Given the description of an element on the screen output the (x, y) to click on. 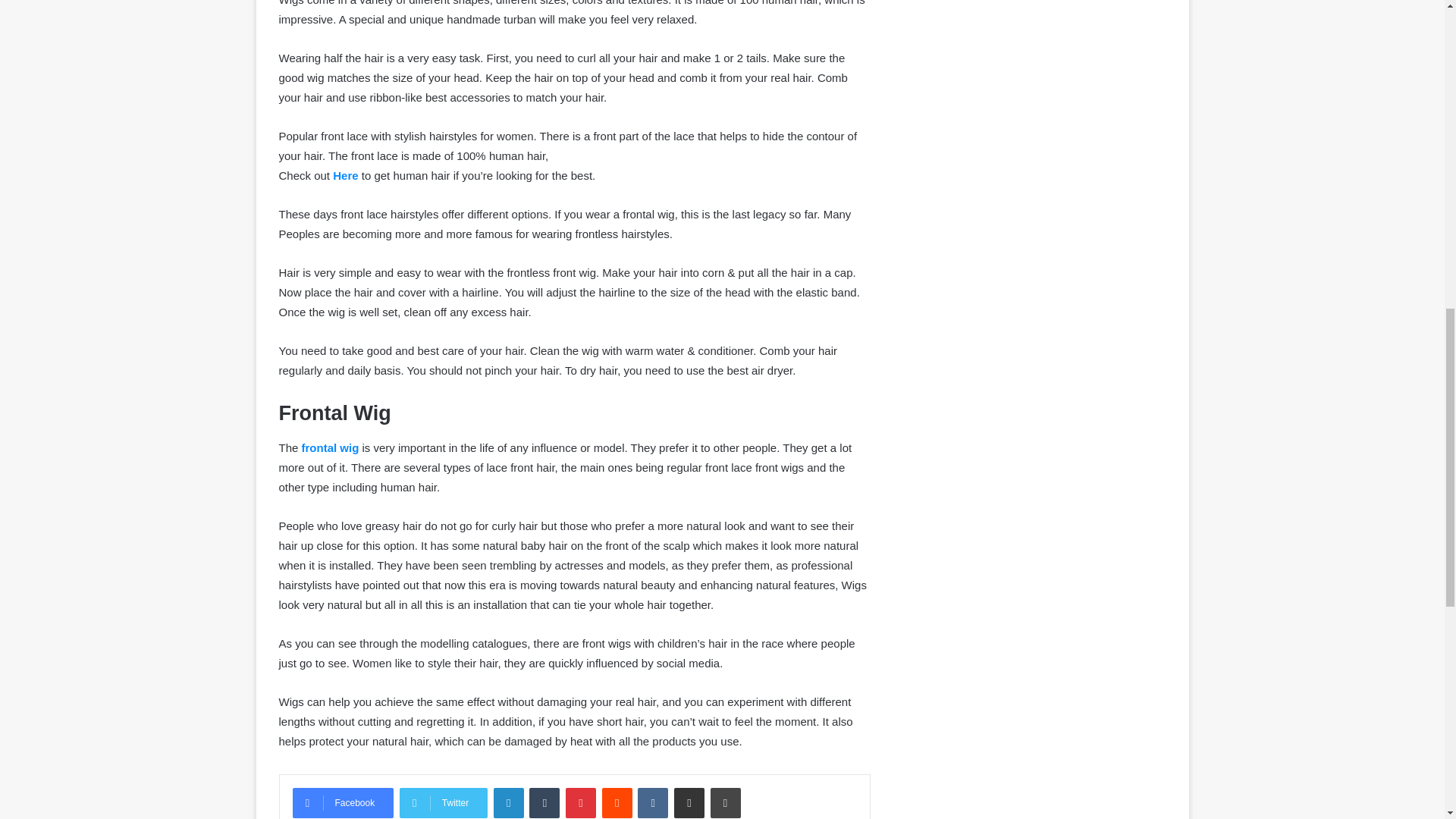
Pinterest (580, 802)
LinkedIn (508, 802)
Print (725, 802)
Twitter (442, 802)
Share via Email (689, 802)
Facebook (343, 802)
VKontakte (652, 802)
Tumblr (544, 802)
frontal wig (330, 447)
Reddit (616, 802)
Print (725, 802)
Pinterest (580, 802)
VKontakte (652, 802)
Tumblr (544, 802)
Facebook (343, 802)
